Given the description of an element on the screen output the (x, y) to click on. 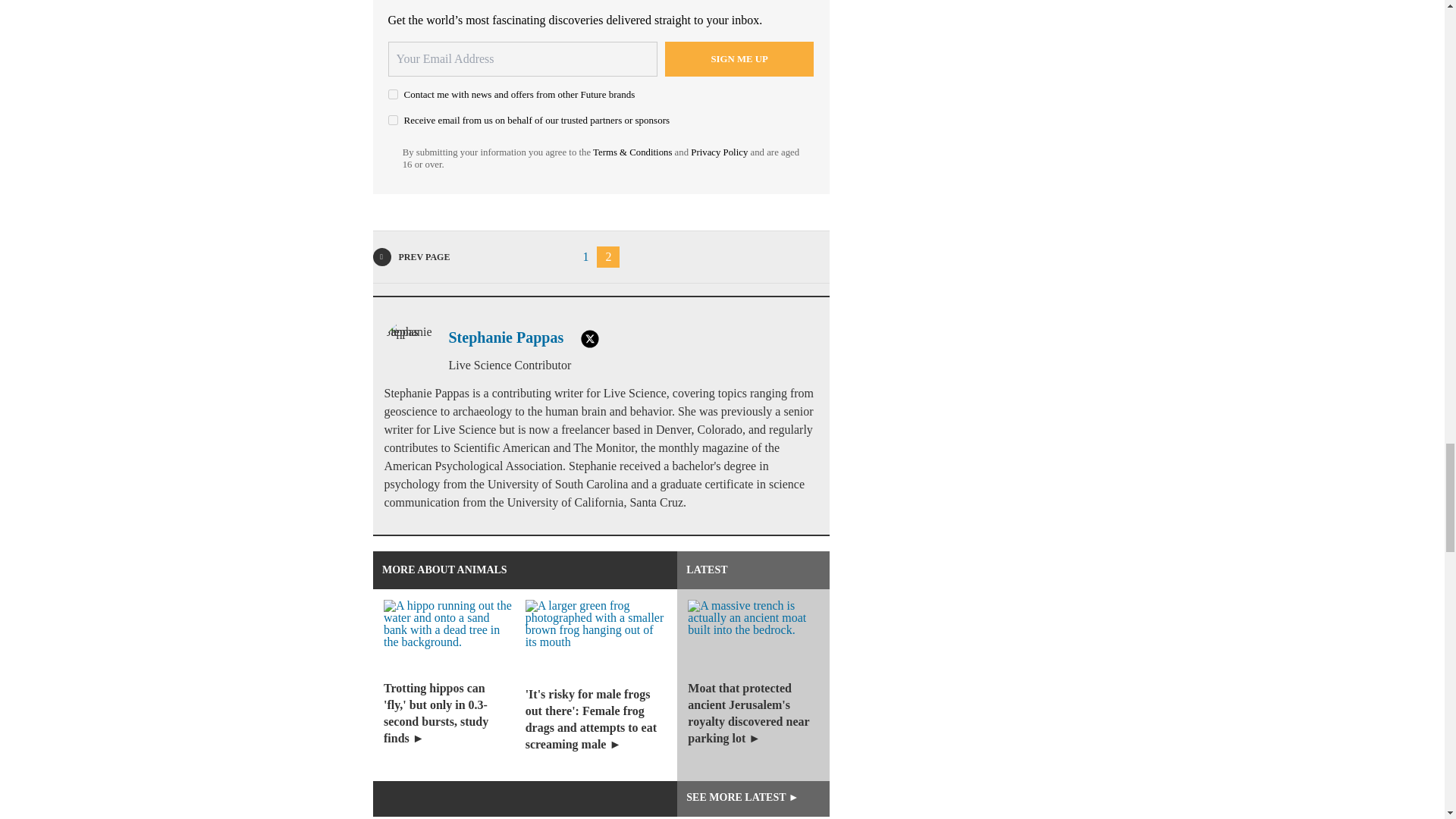
on (392, 120)
Sign me up (739, 58)
on (392, 94)
